Given the description of an element on the screen output the (x, y) to click on. 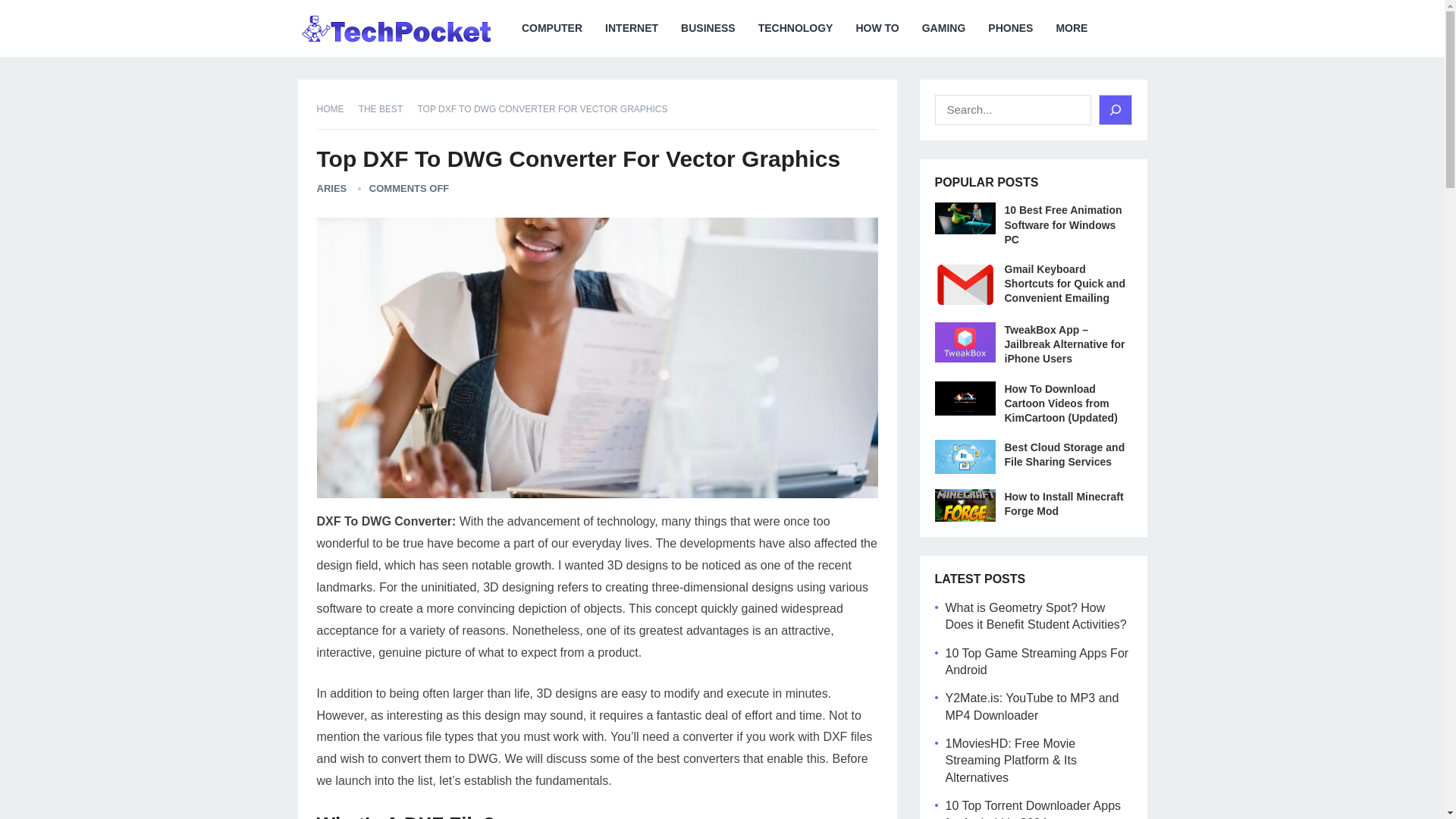
TECHNOLOGY (795, 28)
MORE (1071, 28)
HOME (336, 109)
COMPUTER (552, 28)
BUSINESS (707, 28)
Posts by Aries (332, 188)
HOW TO (877, 28)
View all posts in The Best (385, 109)
THE BEST (385, 109)
INTERNET (631, 28)
ARIES (332, 188)
PHONES (1009, 28)
GAMING (943, 28)
